Given the description of an element on the screen output the (x, y) to click on. 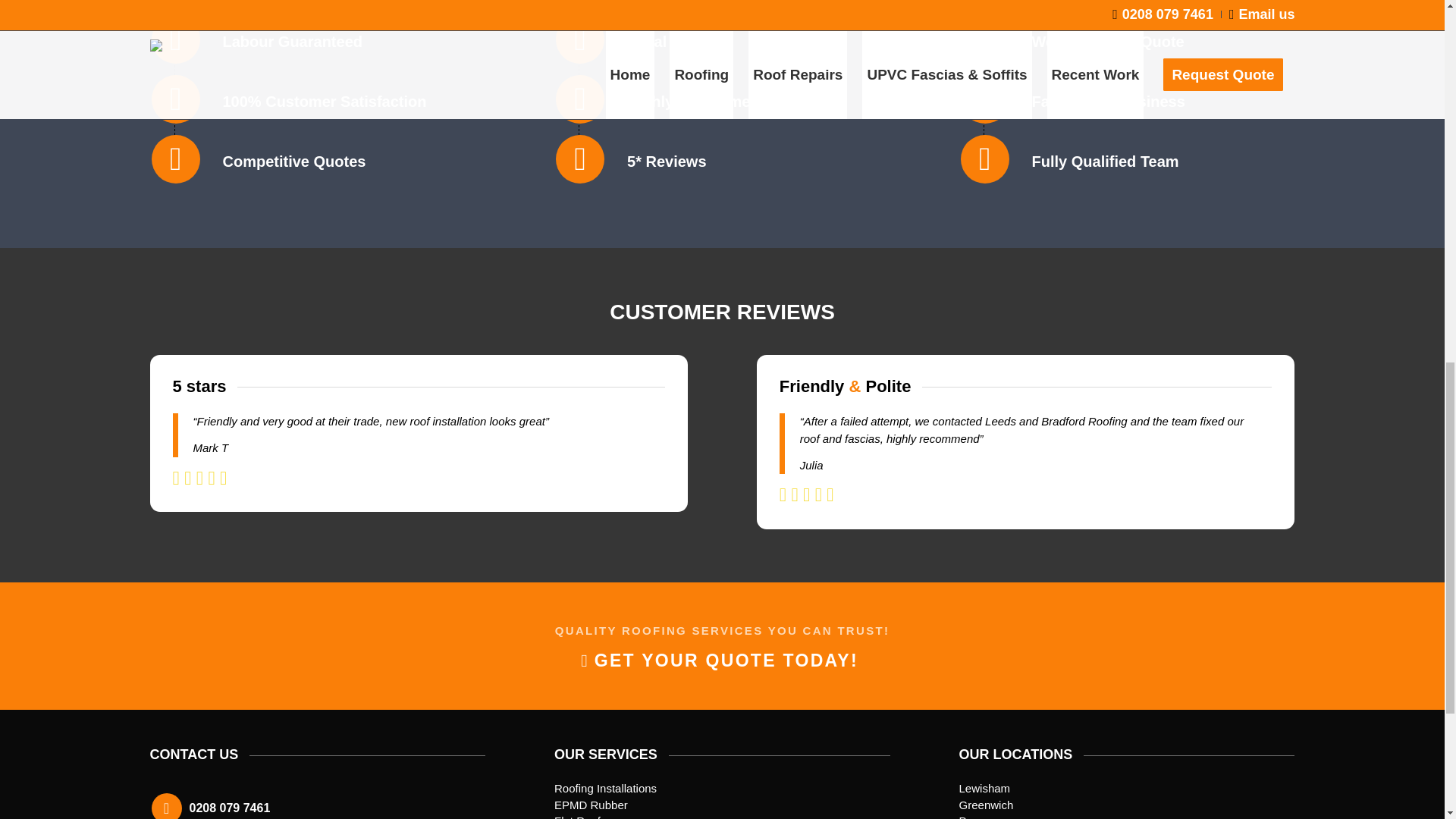
0208 079 7461 (229, 807)
Roofing Installations (605, 788)
0208 079 7461 (229, 807)
Flat Roofs (579, 816)
EPMD Rubber (590, 804)
